Given the description of an element on the screen output the (x, y) to click on. 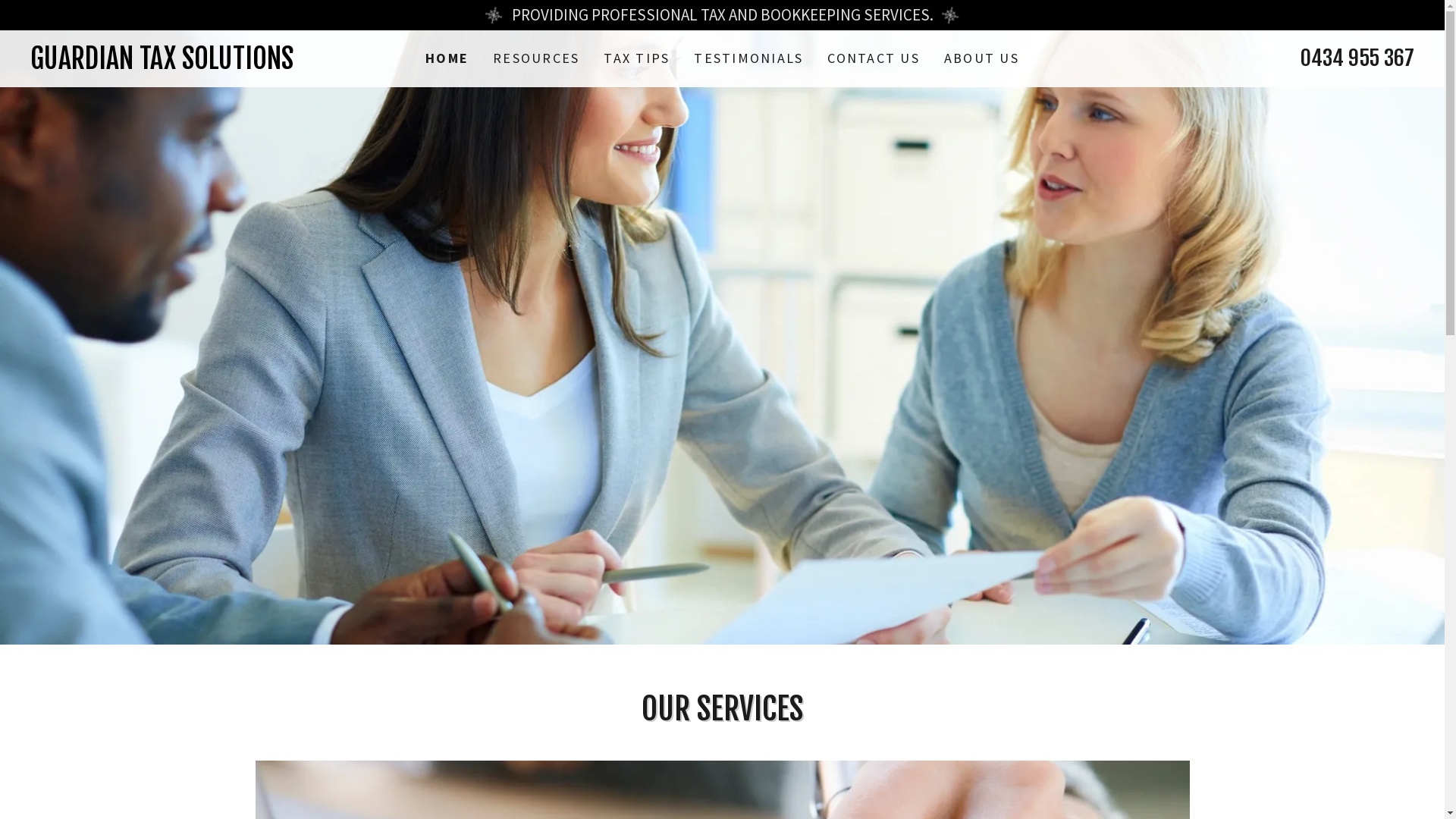
TESTIMONIALS Element type: text (748, 58)
CONTACT US Element type: text (873, 58)
RESOURCES Element type: text (535, 58)
TAX TIPS Element type: text (636, 58)
ABOUT US Element type: text (981, 58)
HOME Element type: text (446, 58)
GUARDIAN TAX SOLUTIONS Element type: text (203, 63)
0434 955 367 Element type: text (1356, 57)
